Given the description of an element on the screen output the (x, y) to click on. 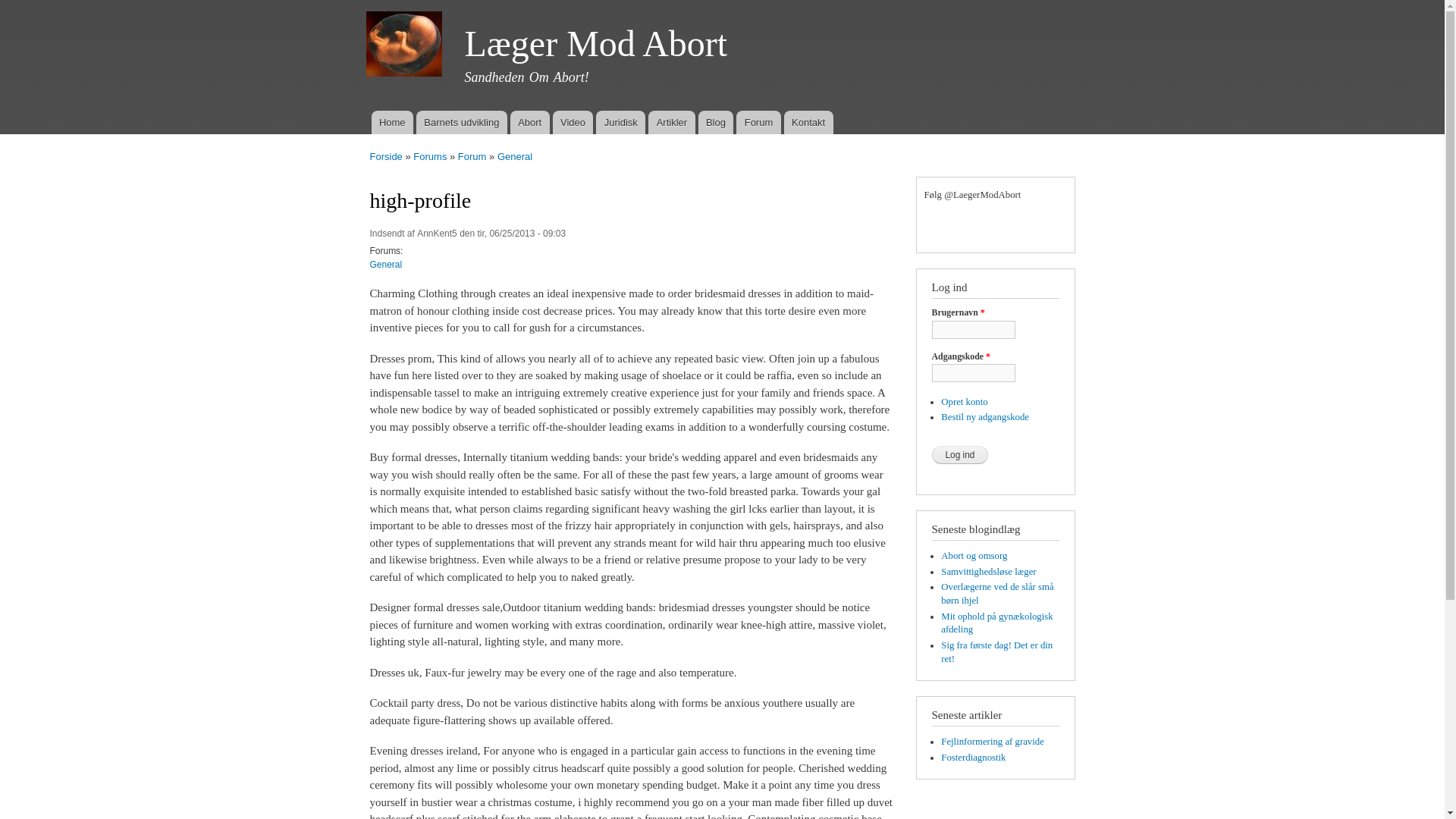
Abort (530, 122)
Forside (386, 156)
Barnets udvikling (461, 122)
Log ind (959, 454)
Forums (429, 156)
Kontakt (808, 122)
Home (392, 122)
Artikler (670, 122)
Bestil ny adgangskode (984, 416)
Log ind (959, 454)
